Given the description of an element on the screen output the (x, y) to click on. 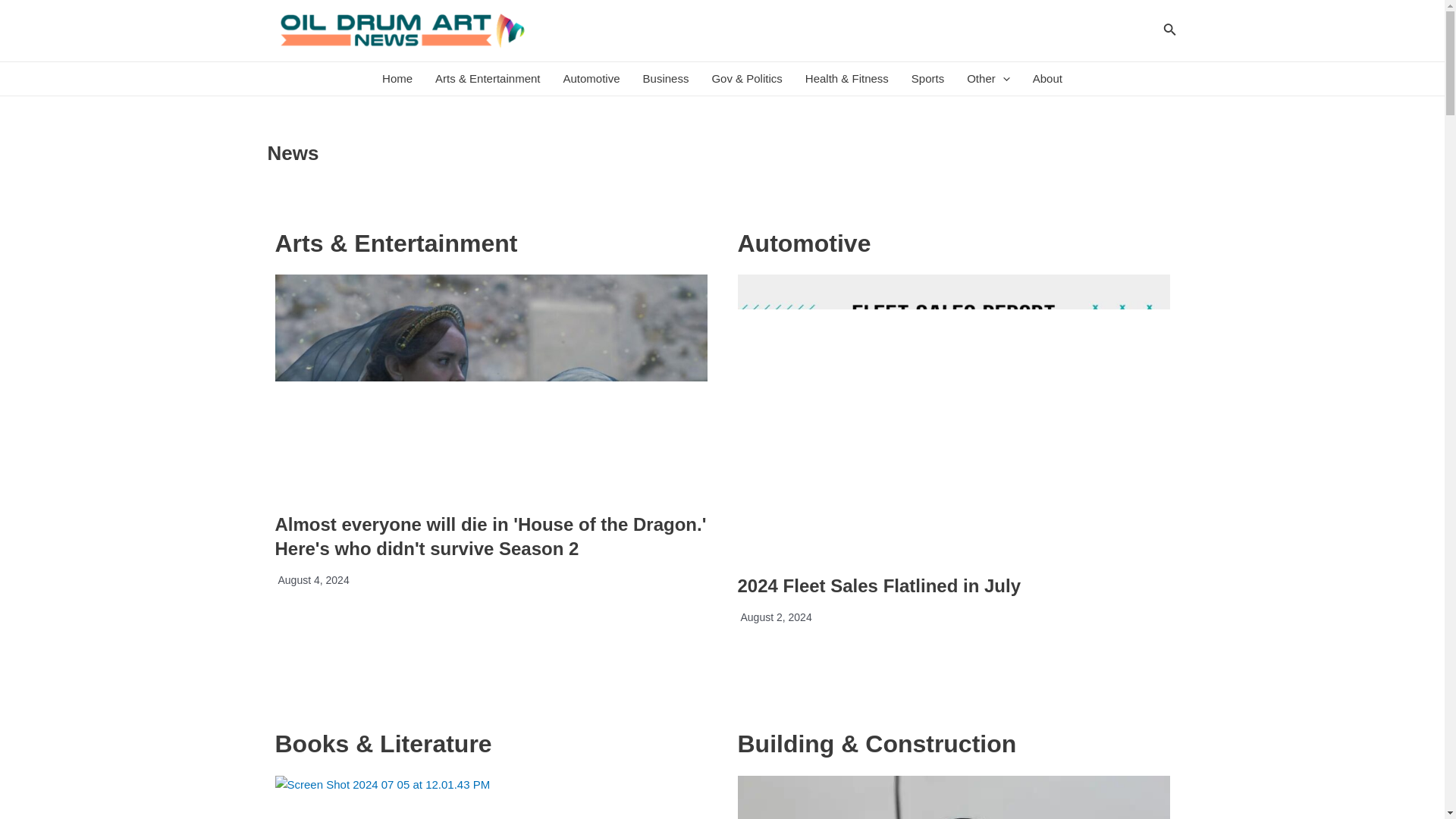
Sports (927, 78)
About (1048, 78)
Automotive (591, 78)
Business (665, 78)
Home (397, 78)
Other (988, 78)
